Given the description of an element on the screen output the (x, y) to click on. 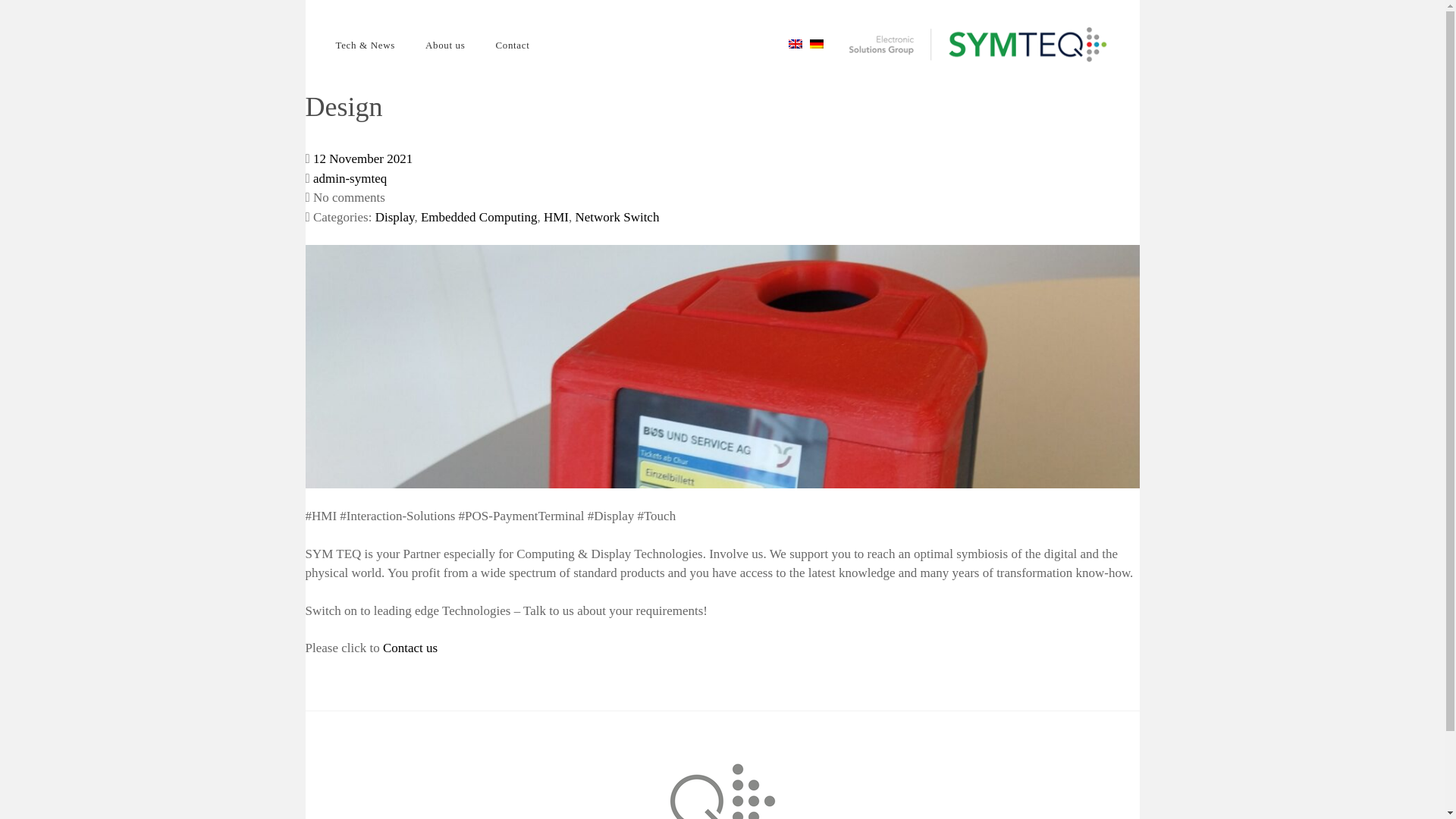
12 November 2021 (362, 158)
Contact us (410, 647)
Embedded Computing (478, 216)
21-11 POS Terminal Solutions (362, 158)
Contact (410, 647)
About us (445, 45)
Display (394, 216)
admin-symteq (350, 178)
Contact (512, 45)
Embedded Computing (478, 216)
Network Switch (617, 216)
HMI (556, 216)
HMI (556, 216)
admin-symteq (350, 178)
SYM TEQ (978, 44)
